Given the description of an element on the screen output the (x, y) to click on. 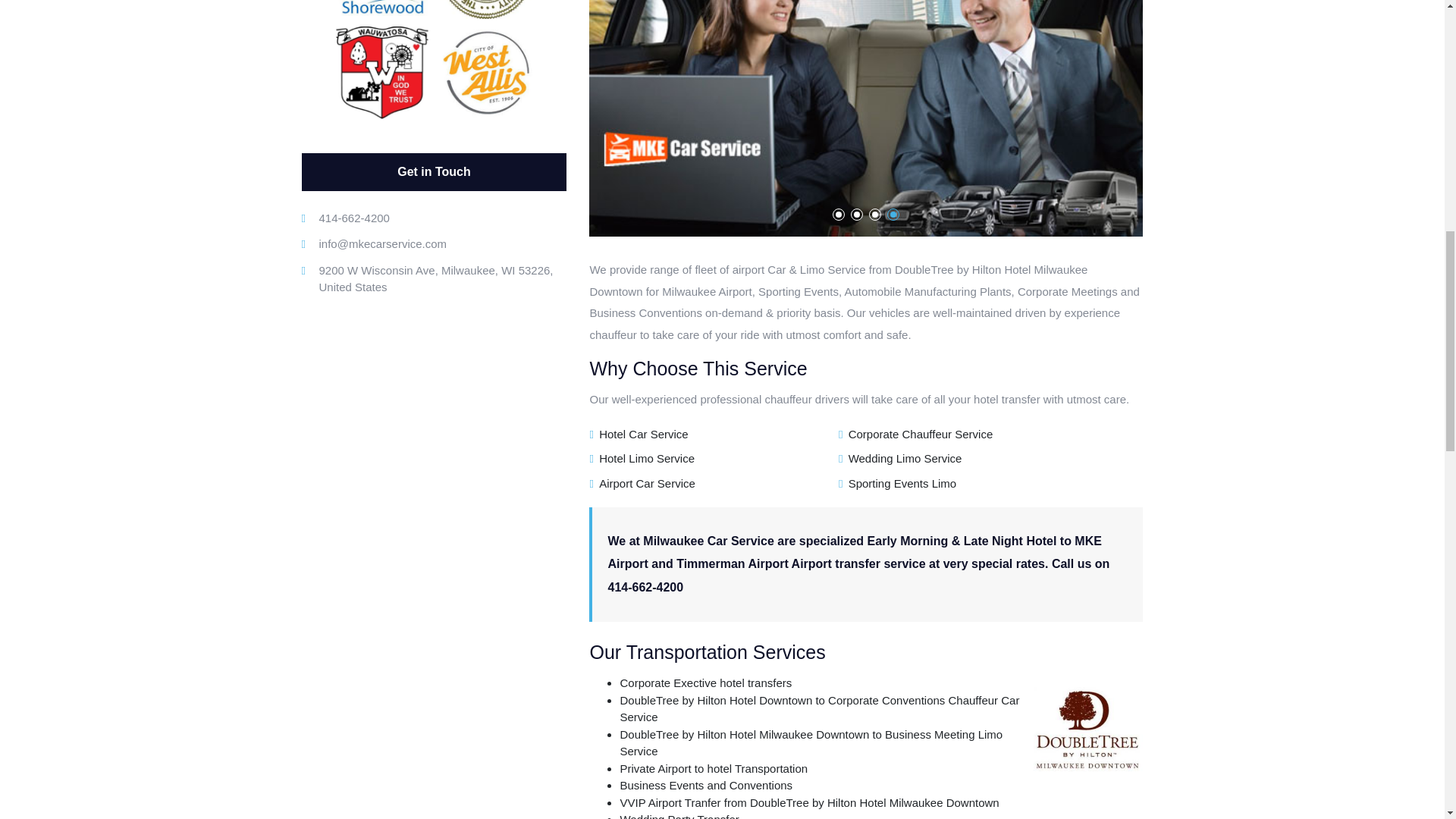
414-662-4200 (442, 217)
